Given the description of an element on the screen output the (x, y) to click on. 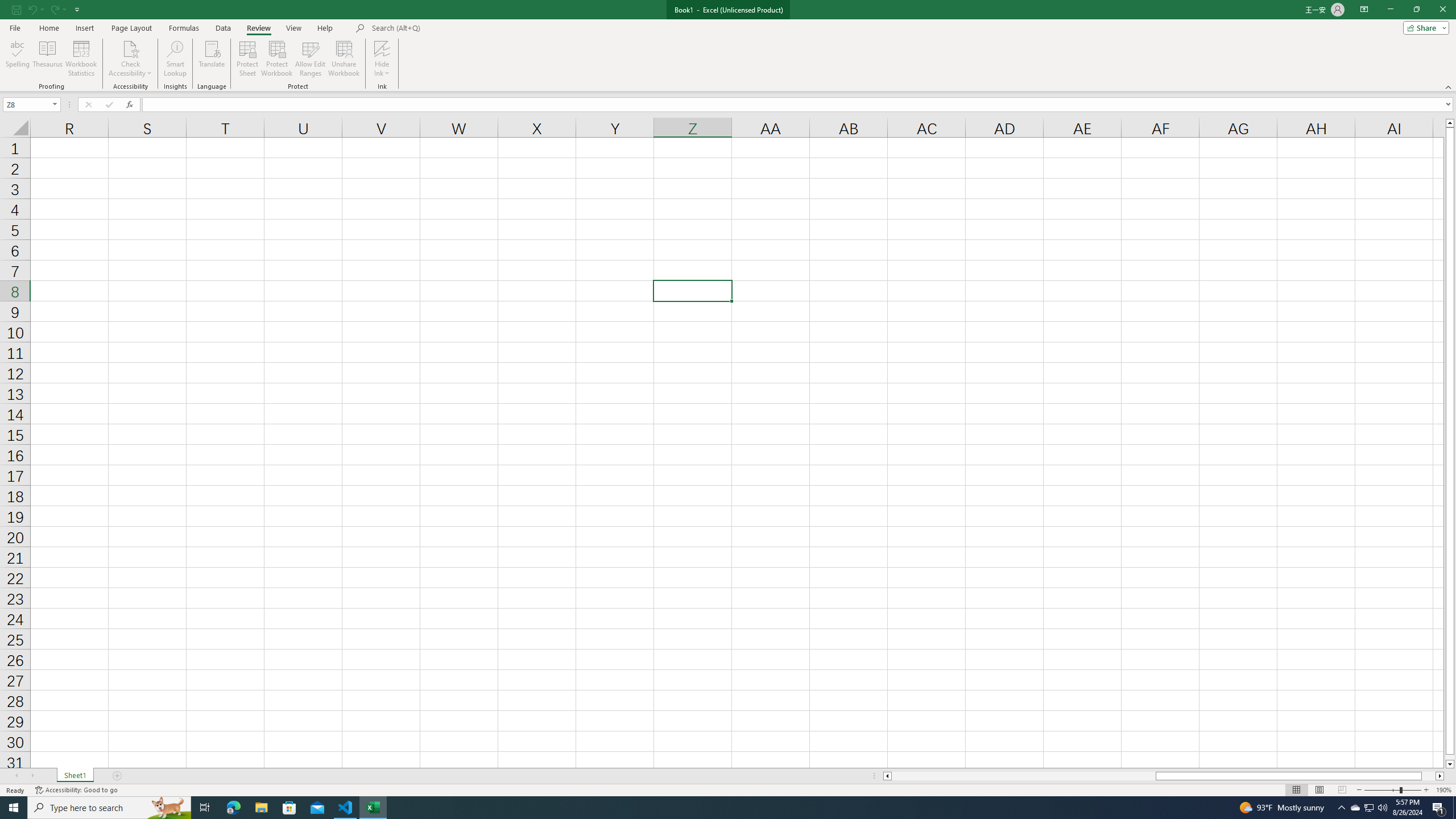
System (6, 6)
Column left (886, 775)
Thesaurus... (47, 58)
Page right (1428, 775)
Zoom Out (1381, 790)
Collapse the Ribbon (1448, 86)
Check Accessibility (129, 58)
Undo (35, 9)
Hide Ink (381, 48)
Data (223, 28)
Name Box (27, 104)
Column right (1440, 775)
Scroll Left (16, 775)
Allow Edit Ranges (310, 58)
Formula Bar (798, 104)
